Given the description of an element on the screen output the (x, y) to click on. 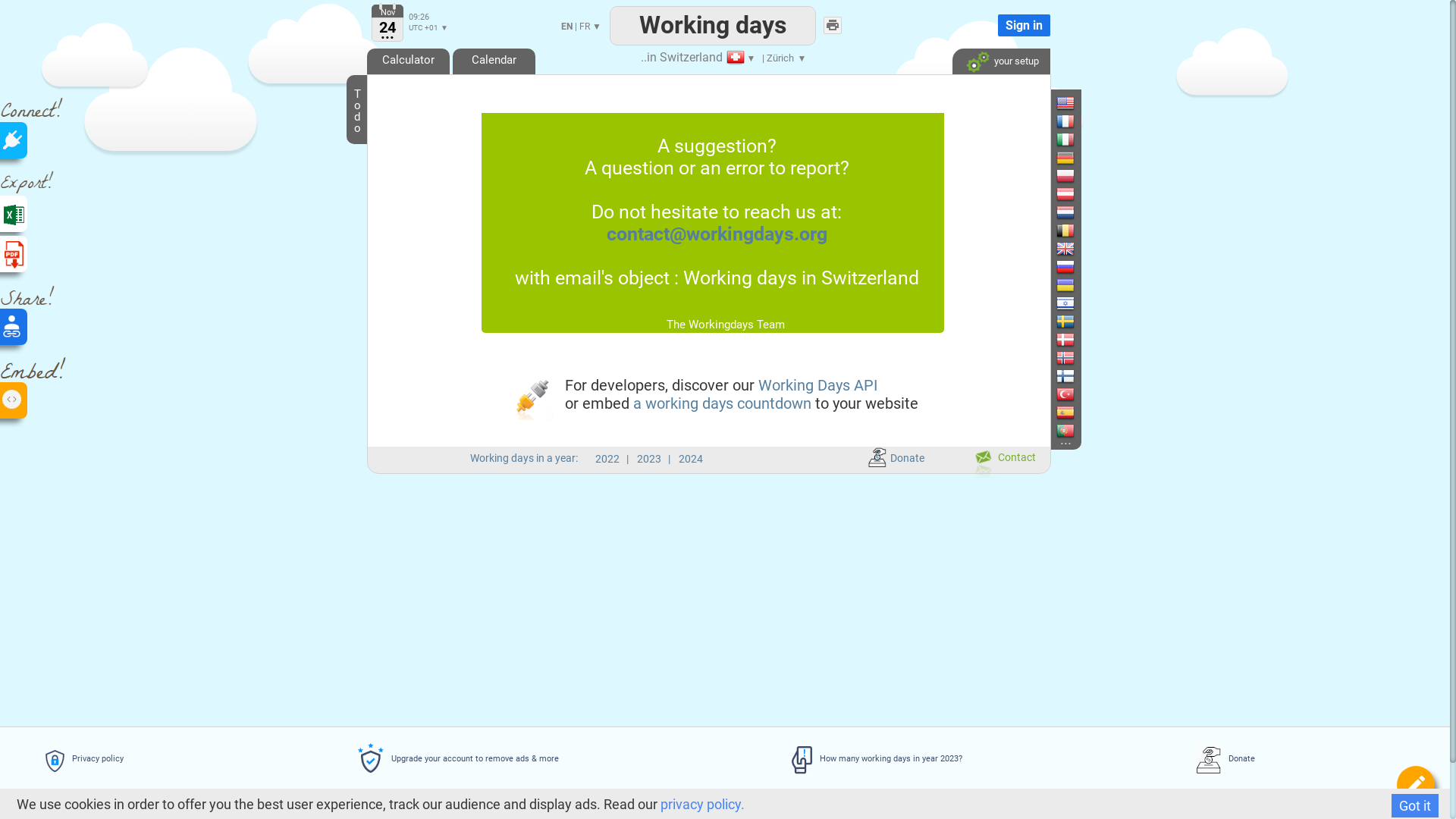
Workings Days in the UK and Ireland Element type: hover (1065, 248)
Donate Element type: text (895, 455)
Australia Element type: text (857, 302)
Working Days in Russia Element type: hover (1065, 266)
Portugal Element type: text (992, 430)
Workings Days in Canada Element type: hover (929, 103)
Discover the working days worldmap Element type: hover (924, 429)
Turkey.png  Element type: hover (1071, 394)
Norway Element type: text (991, 357)
 your setup Element type: text (1000, 58)
Working days in Norway Element type: hover (1065, 357)
Workings Days in Sweden Element type: hover (1071, 321)
New Zealand Element type: text (866, 339)
Giorni lavorativi in Italia Element type: hover (1065, 139)
Working Days API Element type: text (817, 385)
contact@workingdays.org Element type: text (716, 233)
Denmark Element type: text (994, 339)
Turkey Element type: text (989, 393)
Workings Days in Israel Element type: hover (1071, 303)
USA Element type: text (984, 102)
Turkey.png  Element type: hover (1065, 394)
Workings Days in India Element type: hover (923, 139)
Venezuela Element type: text (860, 248)
Sign in Element type: text (1023, 25)
Ukraine Element type: text (991, 284)
Working days in Norway Element type: hover (1071, 357)
Advertisement Element type: hover (708, 597)
Workings Days in Denmark Element type: hover (1065, 339)
Belgique Element type: text (993, 229)
Workings Days in Israel Element type: hover (1065, 303)
Working Days in Ukraine Element type: hover (1065, 285)
Working Days in South Africa Element type: hover (923, 321)
Arbeitstage in Deutschland Element type: hover (1071, 157)
Canada Element type: text (854, 102)
Working days in Australia Element type: hover (923, 303)
Calculator Element type: text (408, 59)
Luxembourg Element type: text (864, 393)
Workings Days in Sweden Element type: hover (1065, 321)
Got it Element type: text (1414, 805)
Working Days in Netherlands Element type: hover (1065, 212)
Japan Element type: text (851, 193)
Monaco Element type: text (855, 357)
Working Days in South Korea Element type: hover (923, 175)
Poland Element type: text (989, 175)
2024 Element type: text (690, 458)
Arbeitstage in Deutschland Element type: hover (1065, 157)
South Africa Element type: text (864, 320)
Workings Days in Greece Element type: hover (929, 376)
Workings Days in Canada Element type: hover (923, 103)
Workings Days in China Element type: hover (929, 157)
Argentina Element type: text (858, 266)
a working days countdown Element type: text (722, 403)
privacy policy. Element type: text (702, 804)
Workings Days in the USA Element type: hover (1065, 103)
Working Days in South Africa Element type: hover (929, 321)
Chile Element type: text (848, 284)
2023 Element type: text (649, 458)
Giorni lavorativi in Italia Element type: hover (1071, 139)
Workings Days in Japan Element type: hover (929, 194)
Workings Days in Greece Element type: hover (923, 376)
France Element type: text (989, 120)
Sweden Element type: text (992, 320)
Discover the working days worldmap Element type: hover (929, 429)
Russia Element type: text (989, 266)
Italia Element type: text (985, 138)
China Element type: text (850, 157)
Working days world map Element type: text (867, 424)
Working Days in Finland Element type: hover (1065, 376)
Working Days in Russia Element type: hover (1071, 266)
Working days in Poland Element type: hover (1065, 175)
2022 Element type: text (607, 458)
FR Element type: text (584, 26)
Workings Days in Japan Element type: hover (923, 194)
United Kingdom & Ireland Element type: text (1008, 257)
Contact page Element type: hover (984, 462)
Workings Days in the USA Element type: hover (1071, 103)
Working Days in South Korea Element type: hover (929, 175)
Colombia Element type: text (858, 229)
Working Days in New Zealand Element type: hover (923, 339)
Workings Days in the UK and Ireland Element type: hover (1071, 248)
Todo Element type: text (357, 109)
Working Days in Netherlands Element type: hover (1071, 212)
India Element type: text (848, 138)
Working days in Poland Element type: hover (1071, 175)
Working days in Australia Element type: hover (929, 303)
Working Days in Ukraine Element type: hover (1071, 285)
Greece Element type: text (853, 375)
South Korea Element type: text (864, 175)
Working Days in New Zealand Element type: hover (929, 339)
Calendar Element type: text (493, 59)
Israel Element type: text (987, 302)
Brasil Element type: text (850, 120)
Workings Days in China Element type: hover (923, 157)
Printable calendar Element type: hover (832, 24)
Finland Element type: text (990, 375)
Deutschland Element type: text (1002, 157)
Netherlands Element type: text (1001, 211)
Workings Days in India Element type: hover (929, 139)
Working Days in Finland Element type: hover (1071, 376)
Workings Days in Denmark Element type: hover (1071, 339)
